Given the description of an element on the screen output the (x, y) to click on. 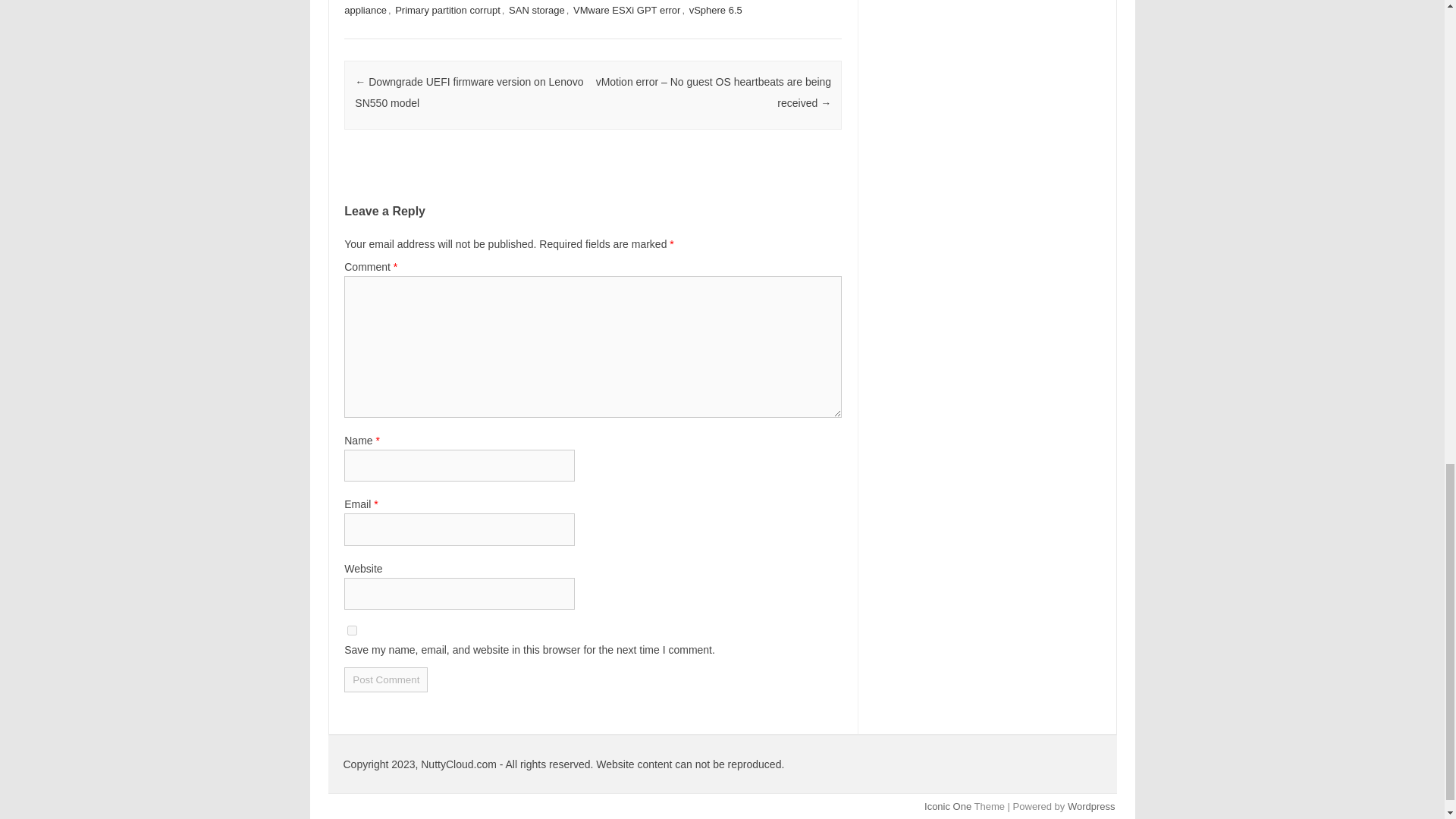
Netbackup appliance (578, 8)
yes (351, 630)
vSphere 6.5 (715, 10)
Post Comment (385, 679)
Primary partition corrupt (447, 10)
SAN storage (536, 10)
VMware ESXi GPT error (626, 10)
